Given the description of an element on the screen output the (x, y) to click on. 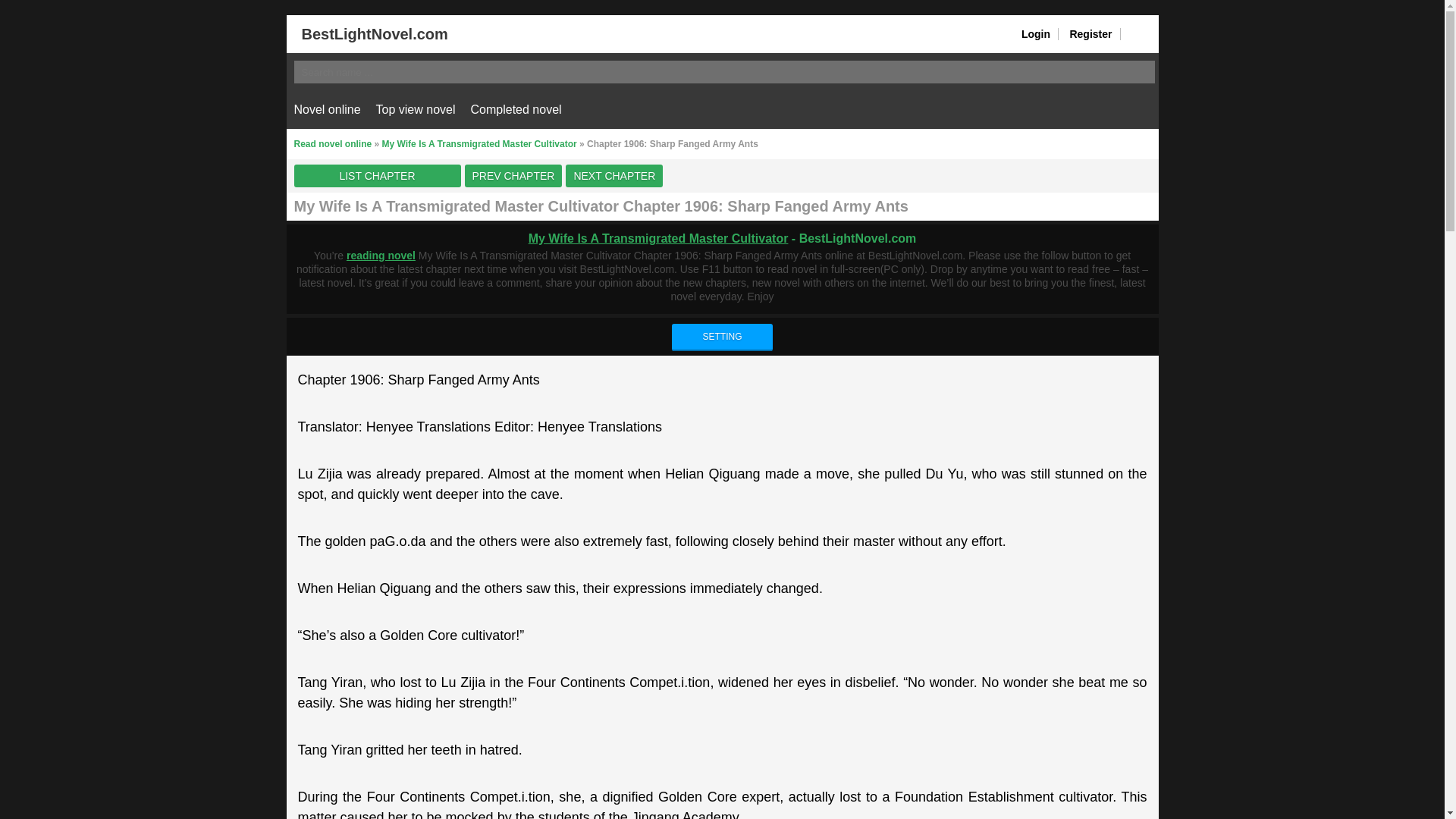
Novel online (327, 109)
My Wife Is A Transmigrated Master Cultivator (478, 143)
Register (1090, 33)
Top view novel (415, 109)
Read novel at BestLightNovel (367, 33)
Register (1090, 33)
PREV CHAPTER (513, 175)
BestLightNovel.com (367, 33)
Completed novel (516, 109)
NEXT CHAPTER (614, 175)
reading manga (380, 255)
reading novel (380, 255)
Top view novel (415, 109)
SETTING (721, 337)
Completed novel (516, 109)
